Given the description of an element on the screen output the (x, y) to click on. 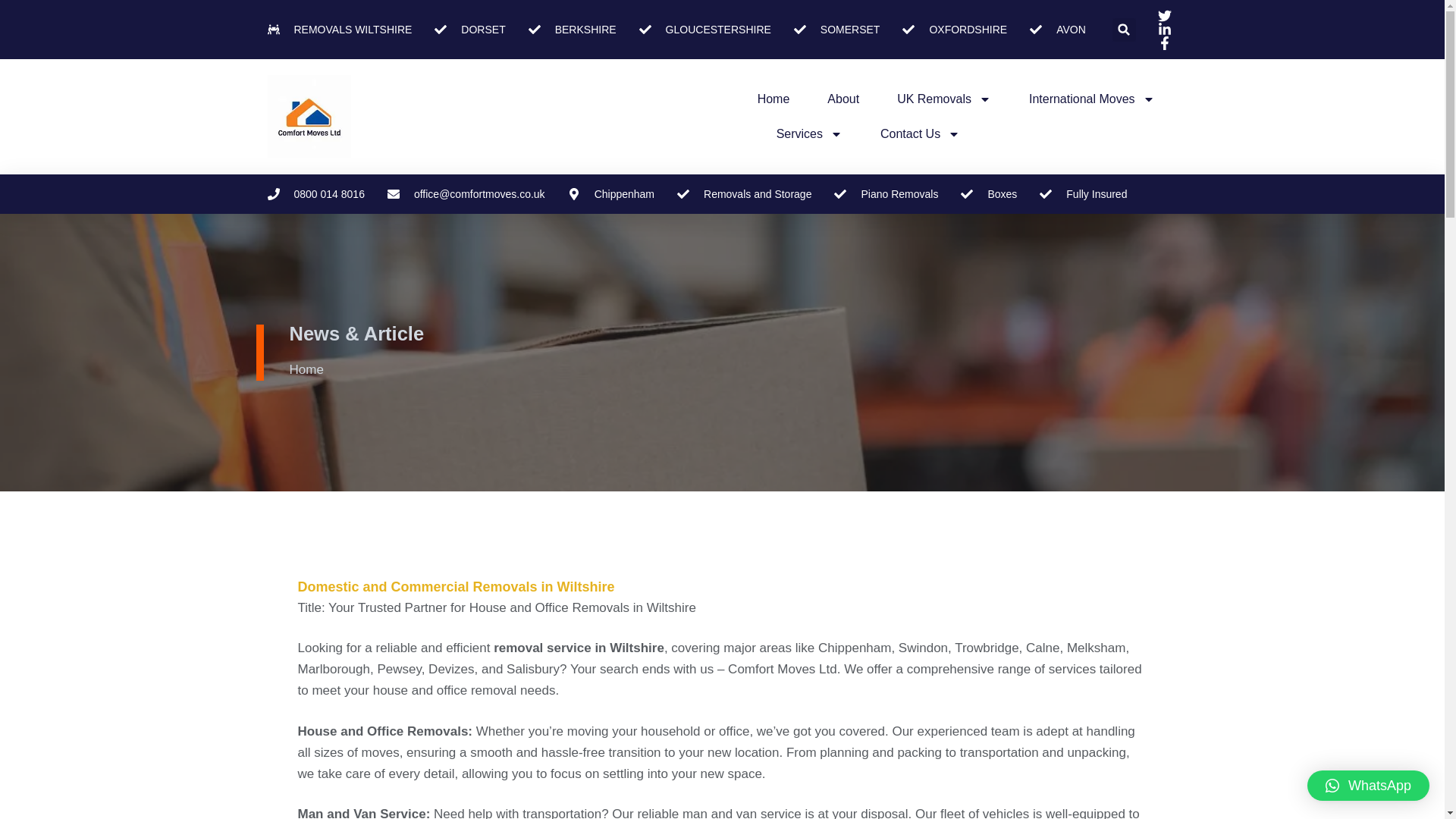
Home (773, 99)
AVON (1057, 29)
GLOUCESTERSHIRE (705, 29)
International Moves (1091, 99)
About (843, 99)
Services (809, 134)
UK Removals (943, 99)
OXFORDSHIRE (954, 29)
Contact Us (919, 134)
